Given the description of an element on the screen output the (x, y) to click on. 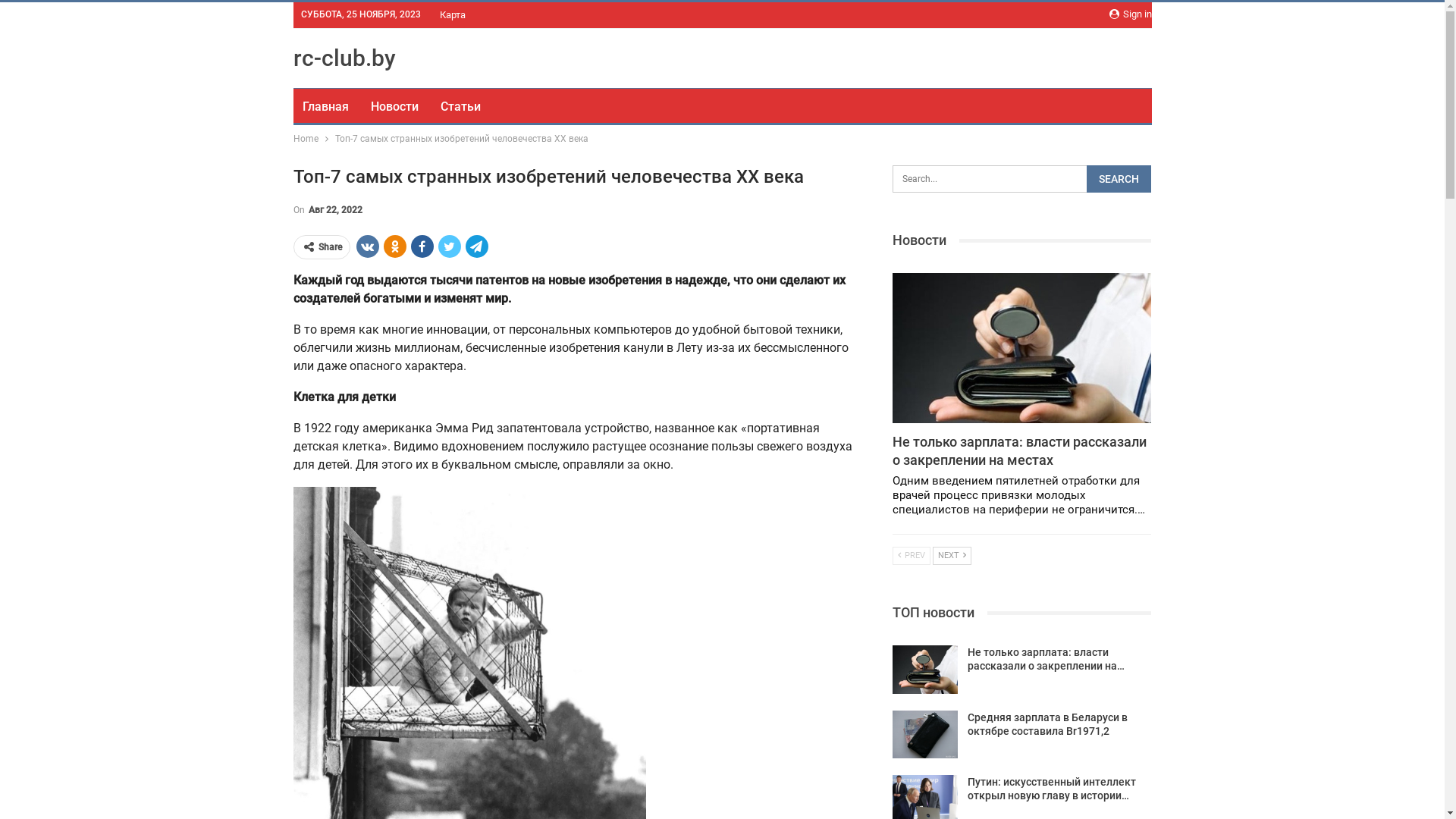
Search Element type: text (1118, 178)
Search for: Element type: hover (1021, 178)
Sign in Element type: text (1129, 14)
NEXT Element type: text (951, 555)
PREV Element type: text (911, 555)
rc-club.by Element type: text (343, 57)
Home Element type: text (304, 138)
